Given the description of an element on the screen output the (x, y) to click on. 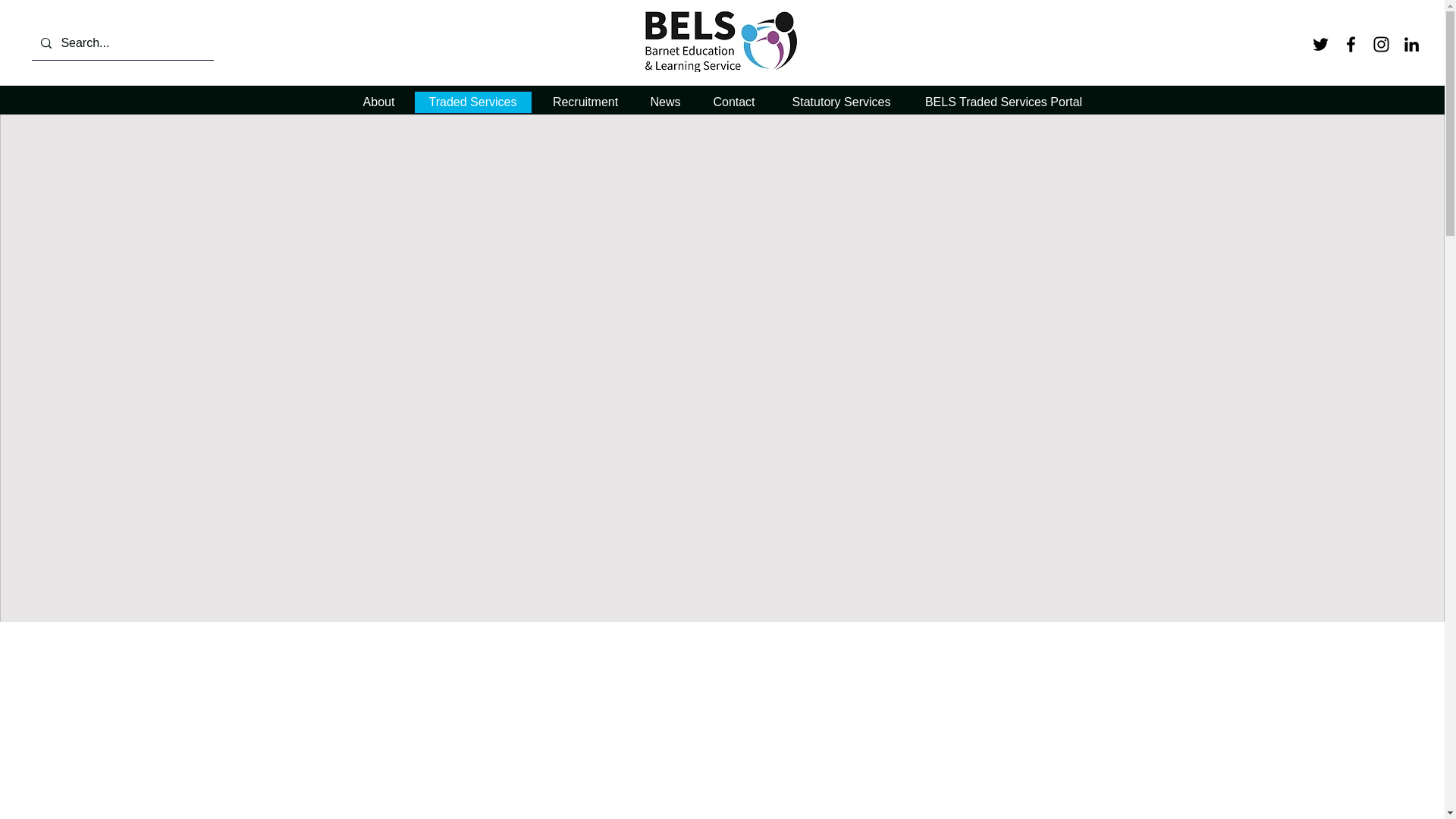
Recruitment (585, 101)
Statutory Services (841, 101)
About (380, 101)
News (664, 101)
Contact (733, 101)
Traded Services (472, 101)
BELS Traded Services Portal (1002, 101)
